Given the description of an element on the screen output the (x, y) to click on. 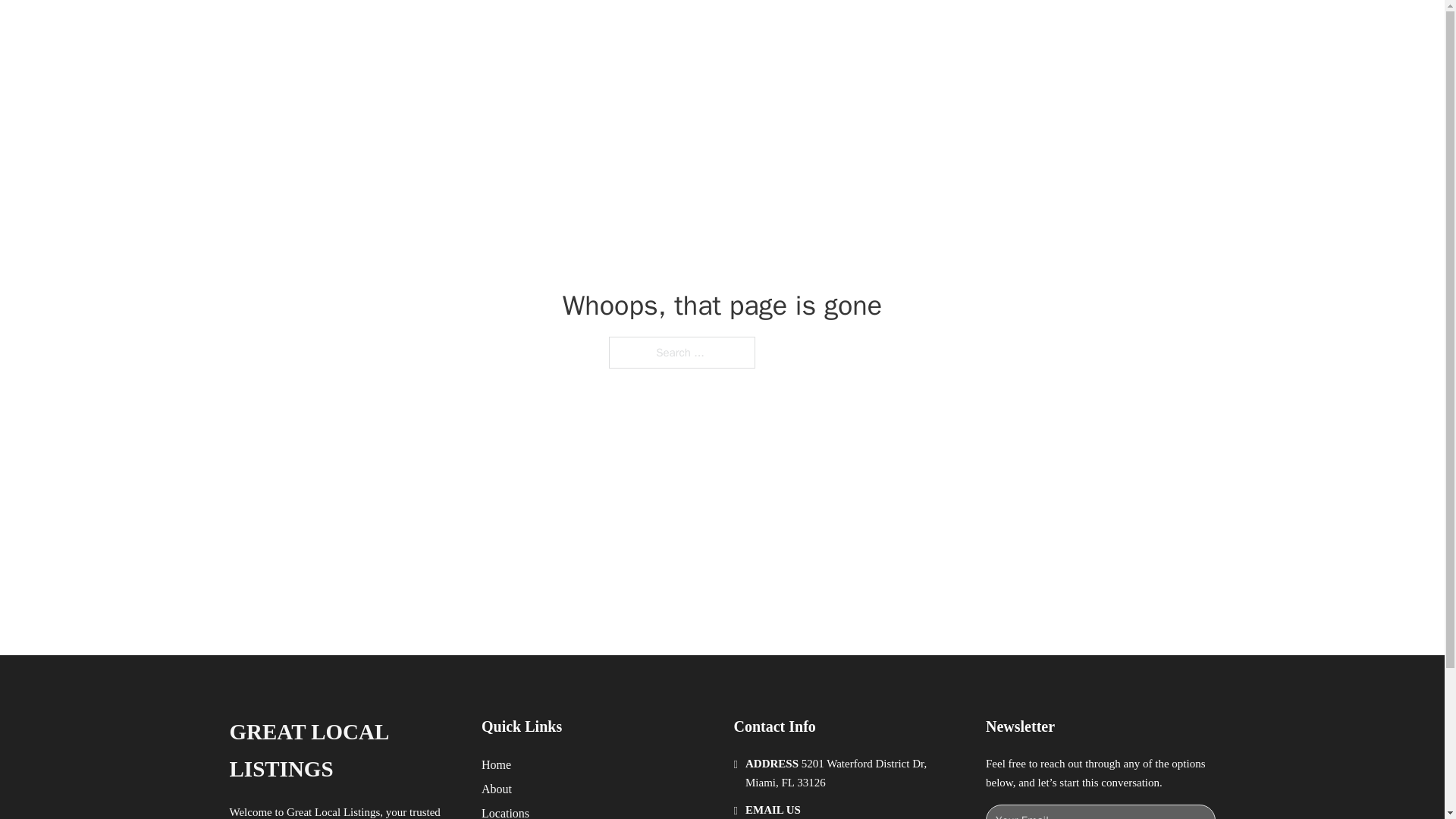
GREAT LOCAL LISTINGS (426, 28)
About (496, 788)
GREAT LOCAL LISTINGS (343, 750)
Locations (505, 811)
HOME (919, 29)
Home (496, 764)
LOCATIONS (990, 29)
